Given the description of an element on the screen output the (x, y) to click on. 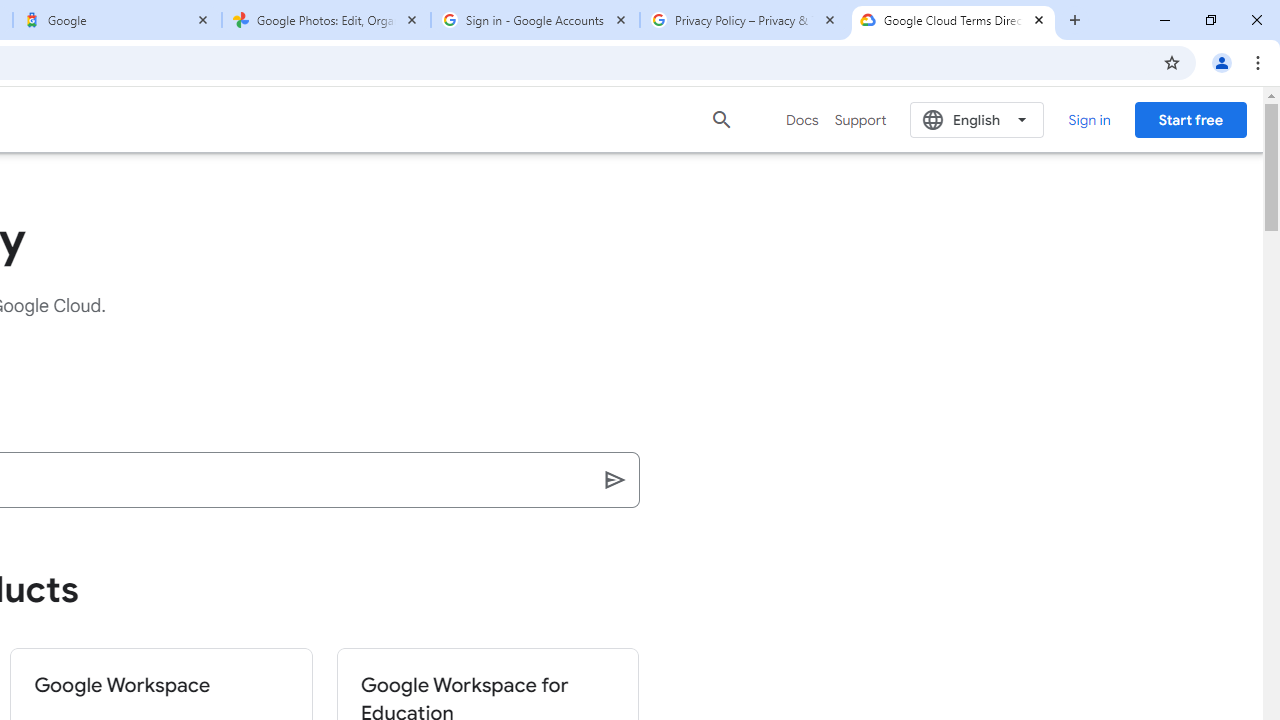
Support (860, 119)
